Given the description of an element on the screen output the (x, y) to click on. 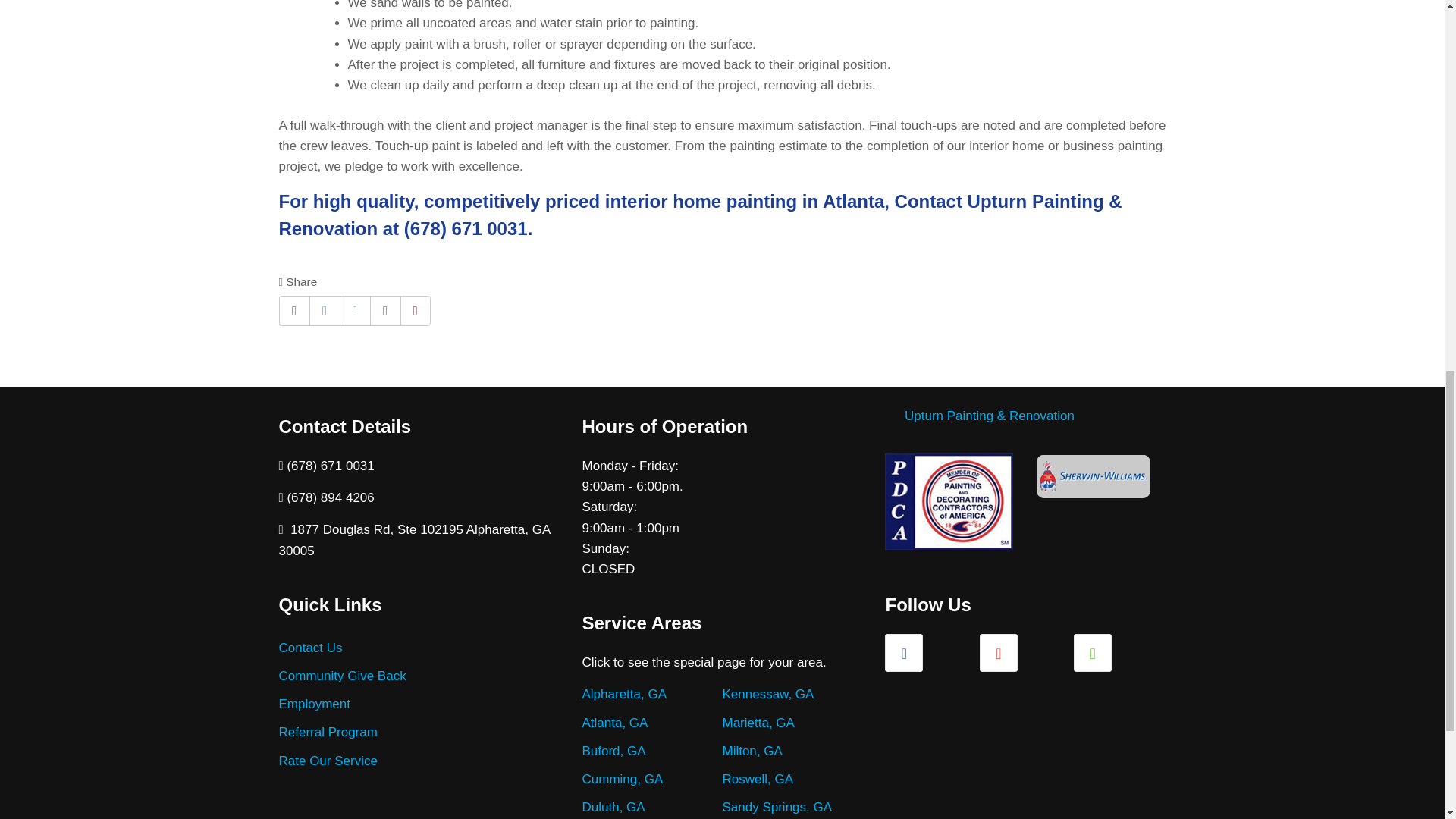
Community Give Back (342, 676)
Atlanta, GA (613, 722)
Rate Our Service (328, 760)
Contact Us (310, 647)
Employment (314, 703)
Buford, GA (612, 750)
